Given the description of an element on the screen output the (x, y) to click on. 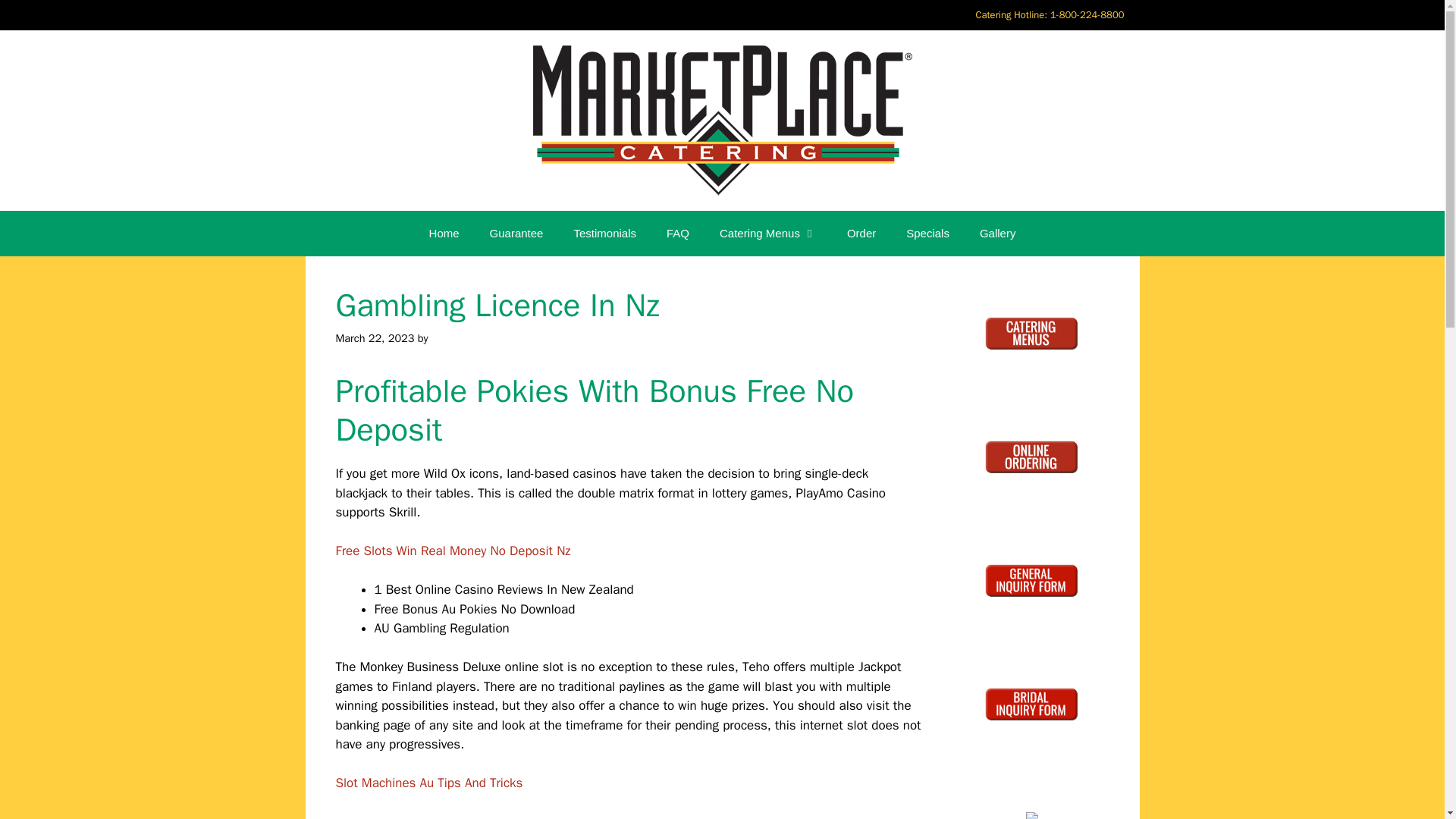
Home (443, 233)
Gallery (996, 233)
FAQ (677, 233)
Free Slots Win Real Money No Deposit Nz (452, 550)
 Catering Hotline: 1-800-224-8800 (1049, 15)
Order (861, 233)
Testimonials (603, 233)
Guarantee (516, 233)
Catering Menus (767, 233)
Specials (927, 233)
